Given the description of an element on the screen output the (x, y) to click on. 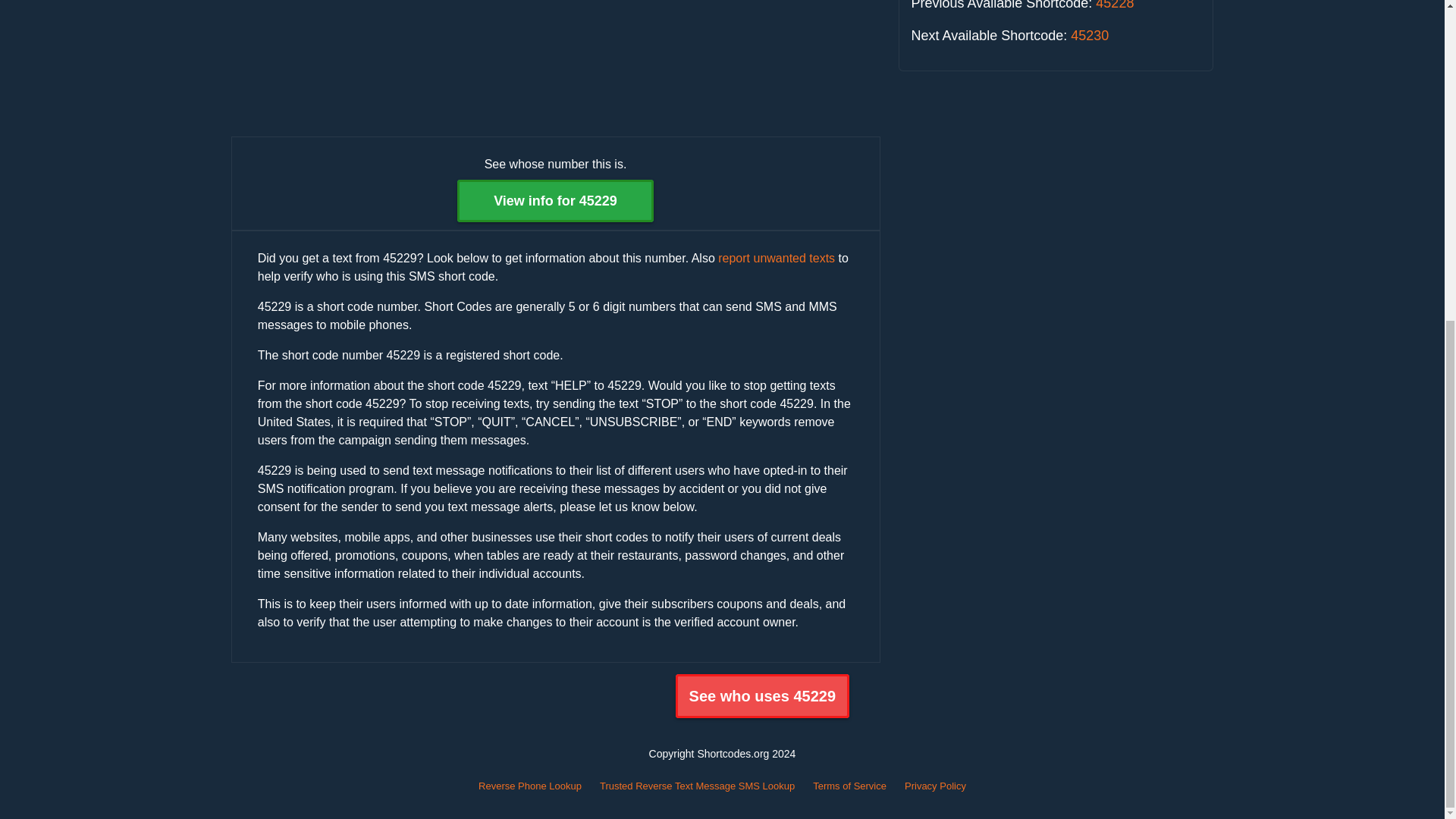
Terms of Service (849, 785)
45228 (1115, 5)
report unwanted texts (775, 257)
Advertisement (1055, 191)
Privacy Policy (935, 785)
Advertisement (554, 65)
Trusted Reverse Text Message SMS Lookup (696, 785)
Reverse Phone Lookup (529, 785)
See who uses 45229 (761, 696)
View info for 45229 (555, 200)
45230 (1089, 35)
